Given the description of an element on the screen output the (x, y) to click on. 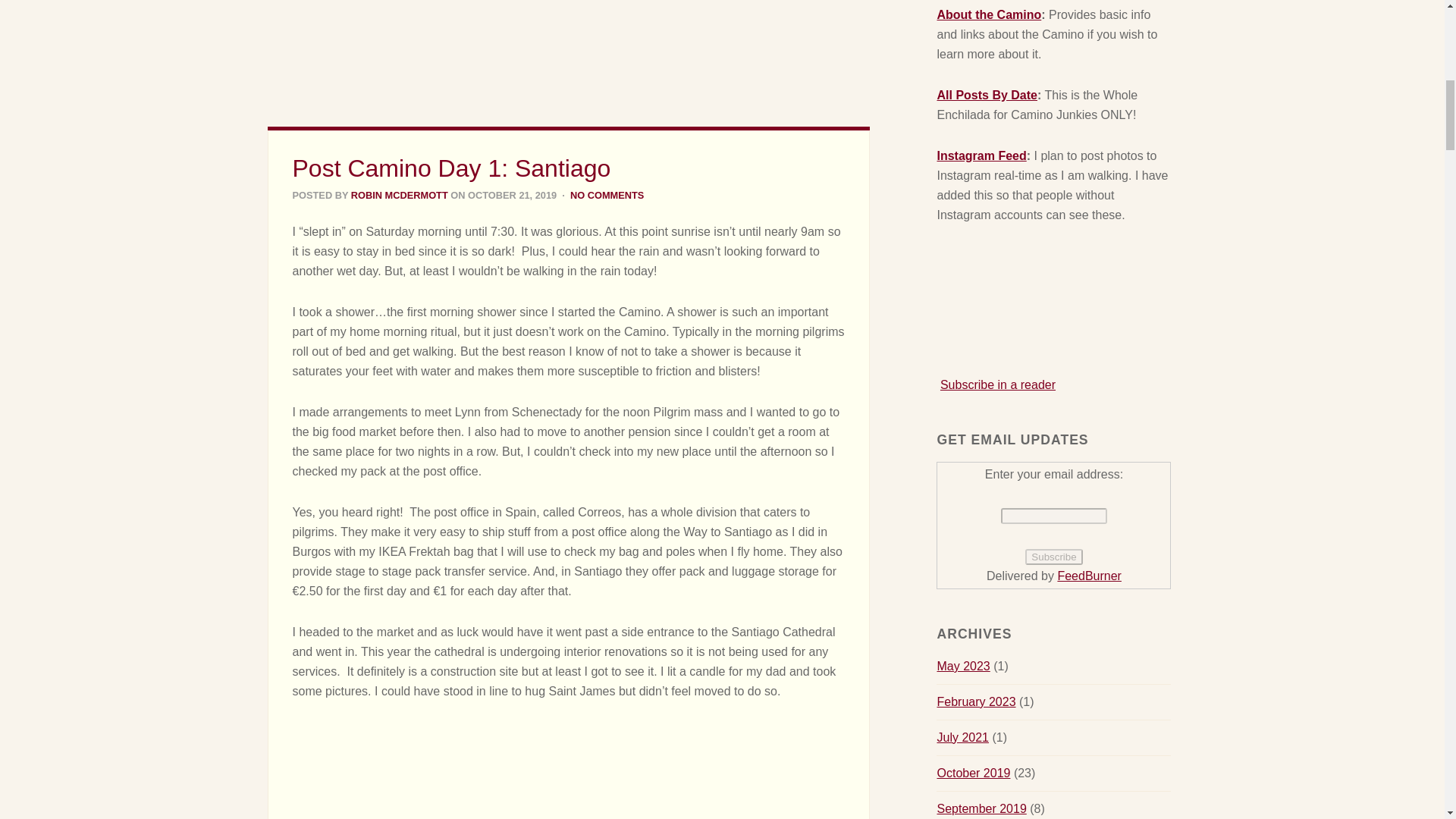
February 2023 (975, 701)
Instagram Feed (981, 155)
NO COMMENTS (606, 194)
Subscribe (1053, 556)
Subscribe (1053, 556)
Robin McDermott (399, 194)
ROBIN MCDERMOTT (399, 194)
FeedBurner (1089, 575)
All Posts By Date (986, 94)
October 2019 (973, 772)
September 2019 (981, 808)
July 2021 (962, 737)
About the Camino (988, 14)
Subscribe in a reader (997, 384)
May 2023 (963, 666)
